Given the description of an element on the screen output the (x, y) to click on. 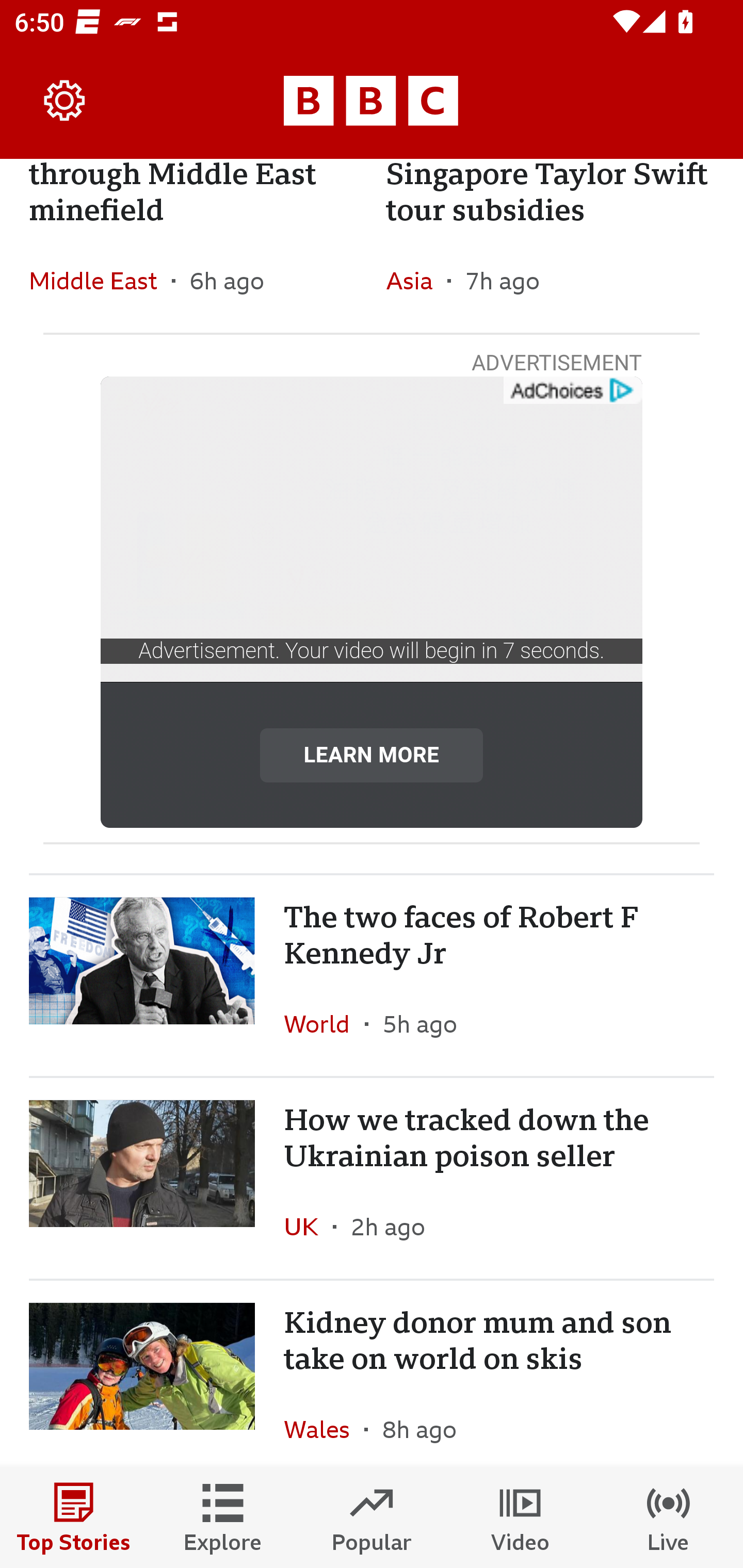
Settings (64, 100)
Middle East In the section Middle East (99, 280)
Asia In the section Asia (416, 280)
get?name=admarker-full-tl (571, 391)
LEARN MORE (371, 754)
World In the section World (323, 1023)
UK In the section UK (307, 1225)
Wales In the section Wales (323, 1421)
Explore (222, 1517)
Popular (371, 1517)
Video (519, 1517)
Live (668, 1517)
